Given the description of an element on the screen output the (x, y) to click on. 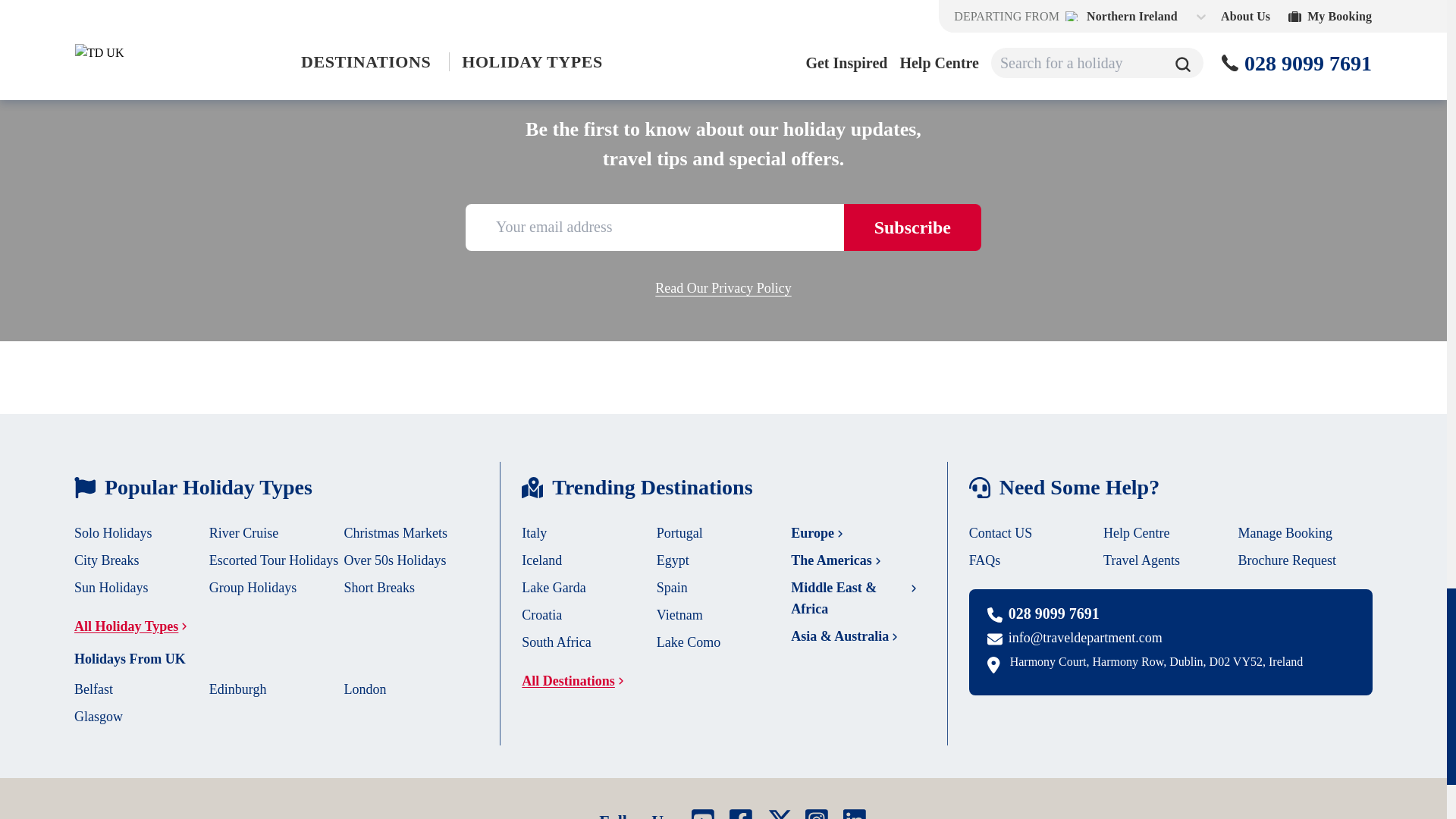
 City Breaks (106, 560)
 Escorted Tour Holidays (273, 560)
All Holiday Types (135, 626)
River Cruise (244, 532)
Christmas Markets (395, 532)
Edinburgh (237, 688)
 Short Breaks (378, 587)
Sun Holidays (111, 587)
Group Holidays (253, 587)
Belfast (93, 688)
